Given the description of an element on the screen output the (x, y) to click on. 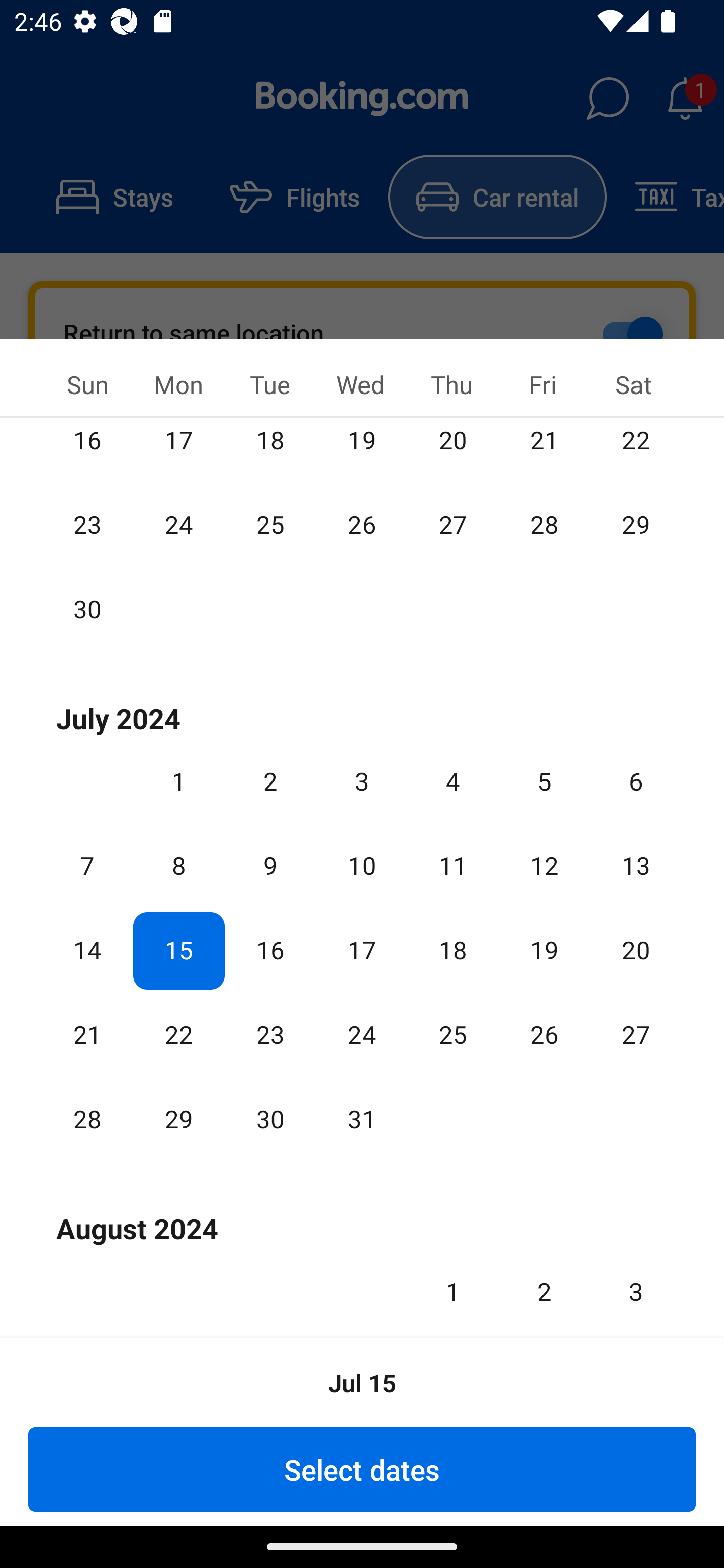
Select dates (361, 1468)
